Given the description of an element on the screen output the (x, y) to click on. 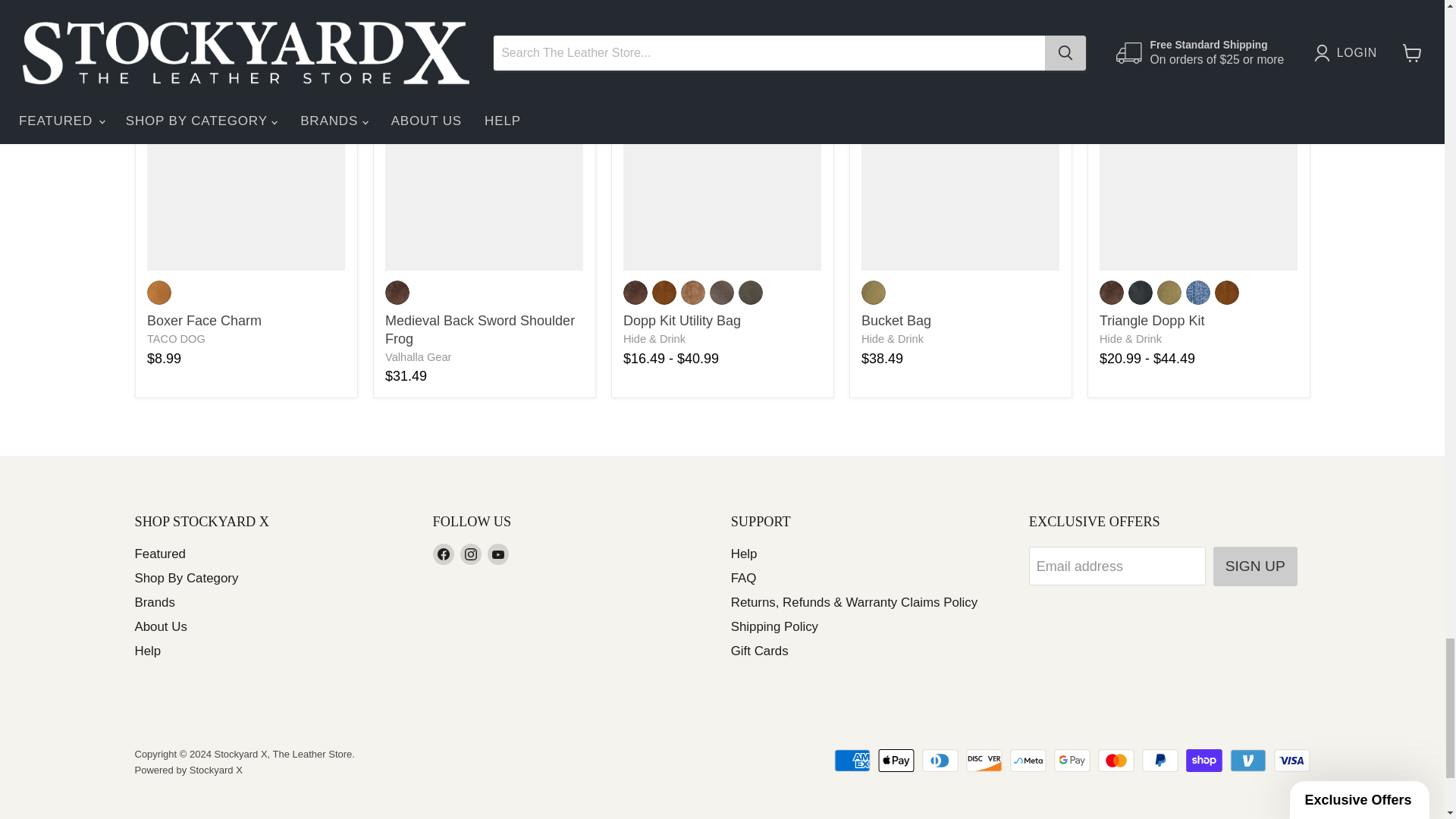
Valhalla Gear (418, 357)
Facebook (443, 554)
TACO DOG (176, 338)
YouTube (497, 554)
Instagram (470, 554)
